Given the description of an element on the screen output the (x, y) to click on. 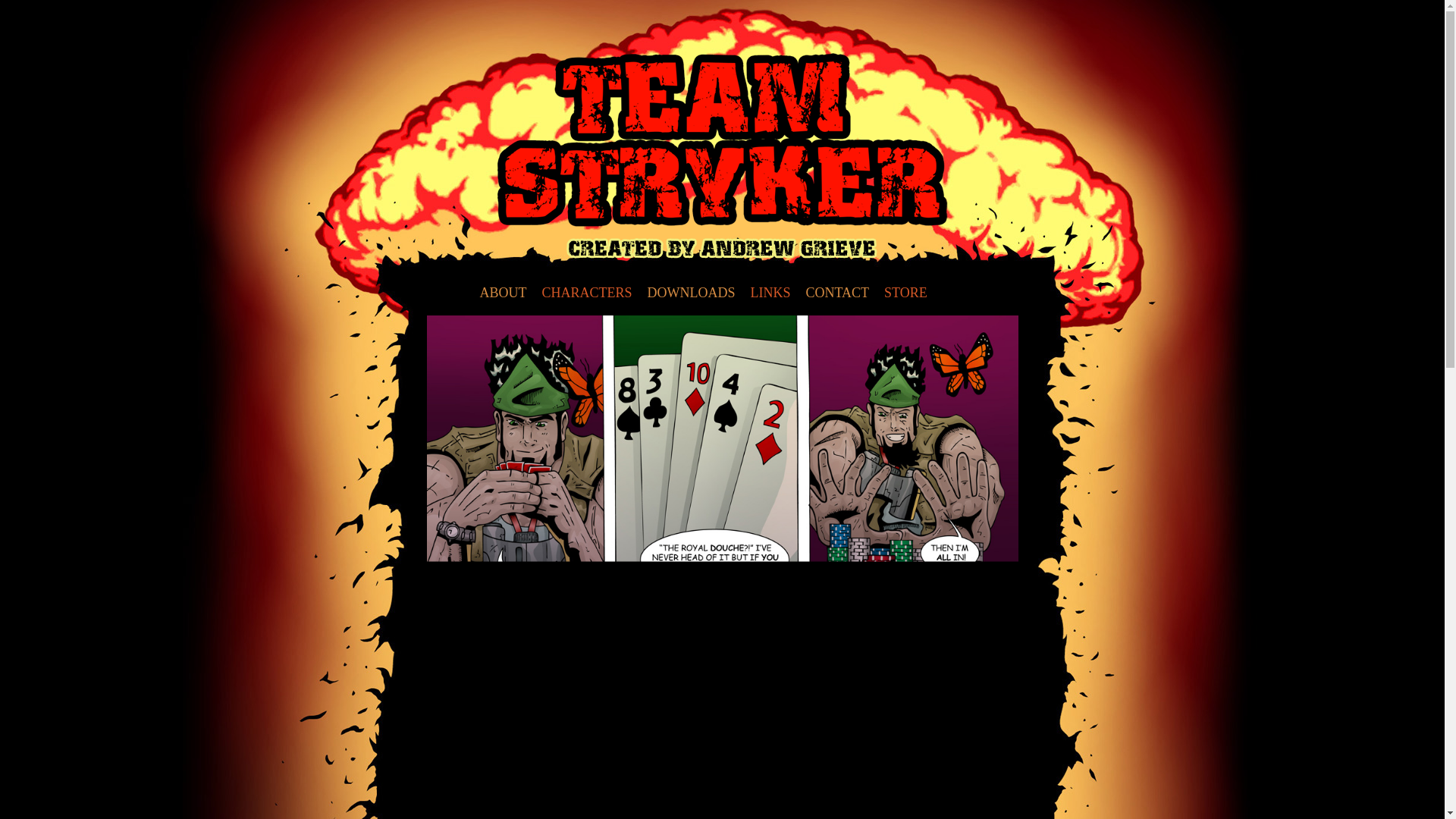
TeamStryker-New (722, 139)
Created-by-Andrew-Grieve (722, 248)
STORE (905, 292)
ABOUT (502, 292)
CONTACT (837, 292)
DOWNLOADS (691, 292)
CHARACTERS (586, 292)
LINKS (769, 292)
